Given the description of an element on the screen output the (x, y) to click on. 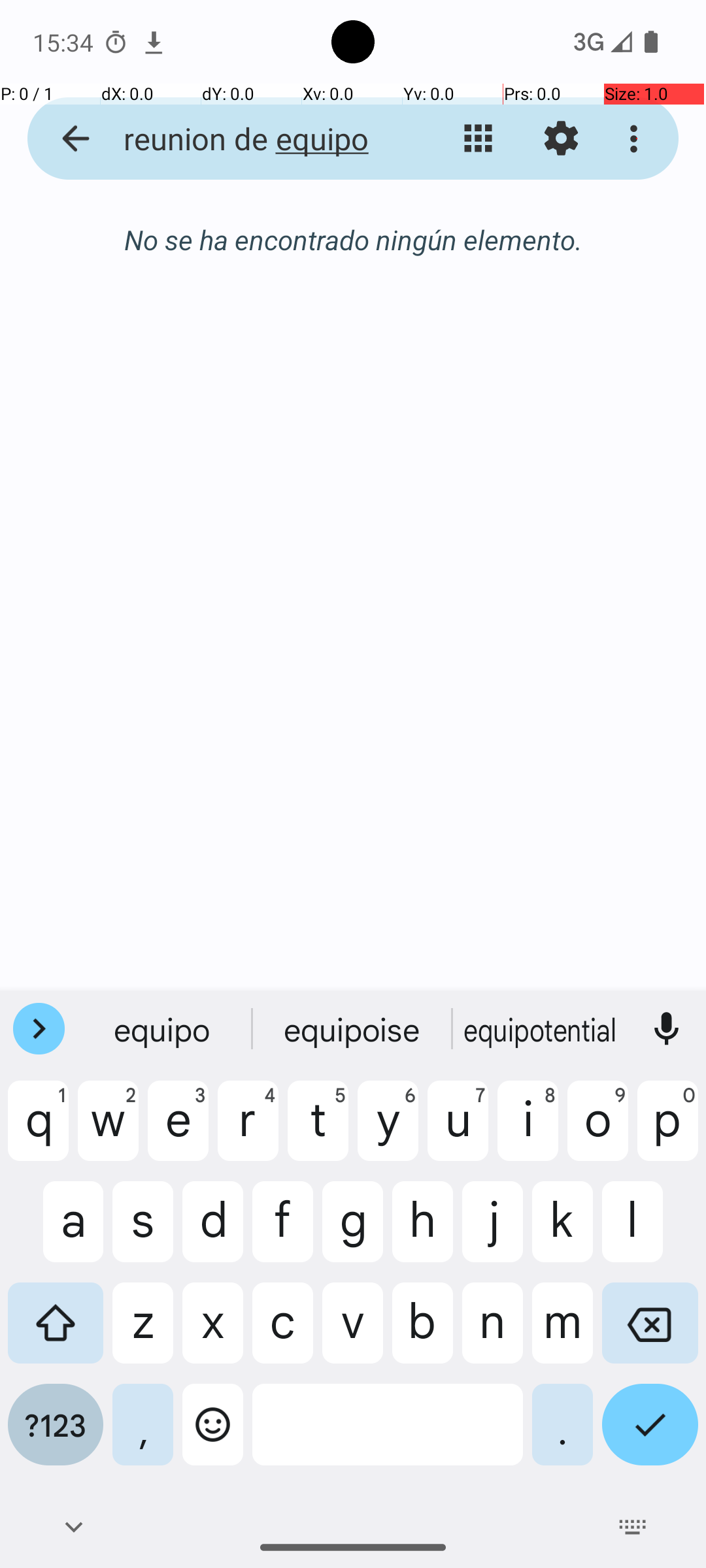
reunion de equipo Element type: android.widget.EditText (252, 138)
equipo Element type: android.widget.FrameLayout (163, 1028)
equipoise Element type: android.widget.FrameLayout (352, 1028)
equipotential Element type: android.widget.FrameLayout (541, 1028)
